Given the description of an element on the screen output the (x, y) to click on. 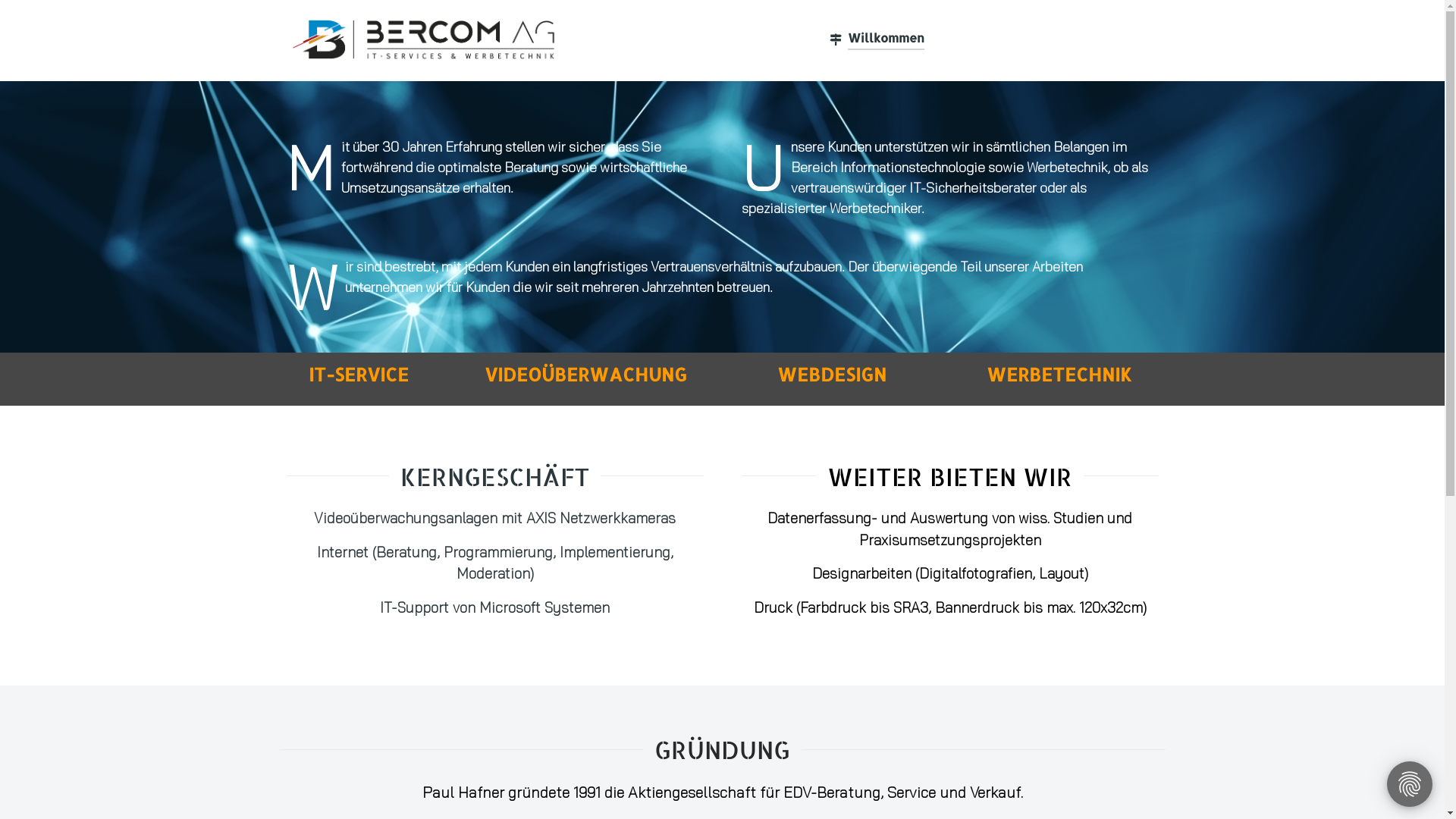
Willkommen Element type: text (876, 38)
Logo BerCom ag Element type: hover (422, 40)
